Given the description of an element on the screen output the (x, y) to click on. 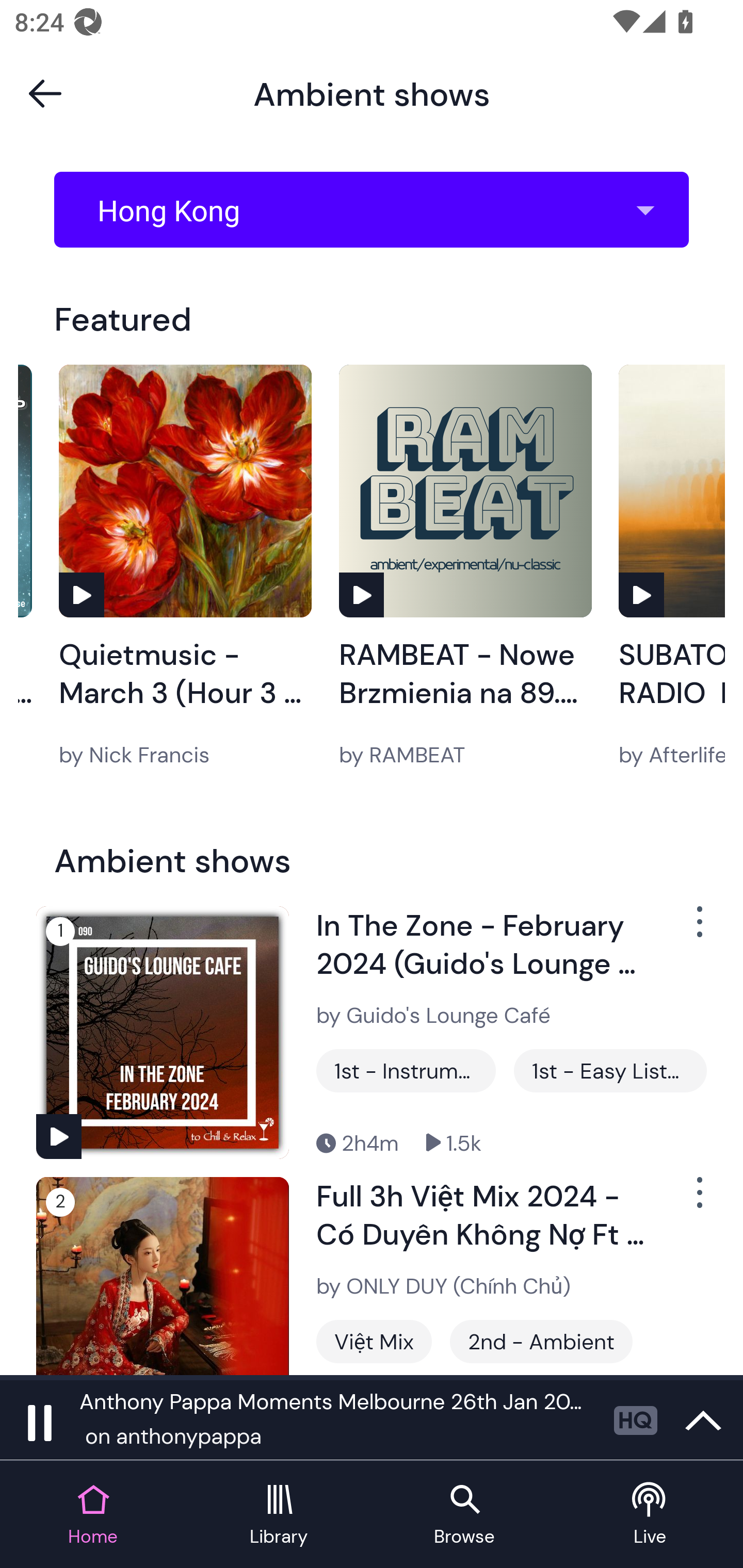
Hong Kong (378, 209)
Show Options Menu Button (697, 929)
1st - Instrumental (405, 1070)
1st - Easy Listening (610, 1070)
Show Options Menu Button (697, 1200)
Việt Mix (373, 1341)
2nd - Ambient (541, 1341)
Home tab Home (92, 1515)
Library tab Library (278, 1515)
Browse tab Browse (464, 1515)
Live tab Live (650, 1515)
